Given the description of an element on the screen output the (x, y) to click on. 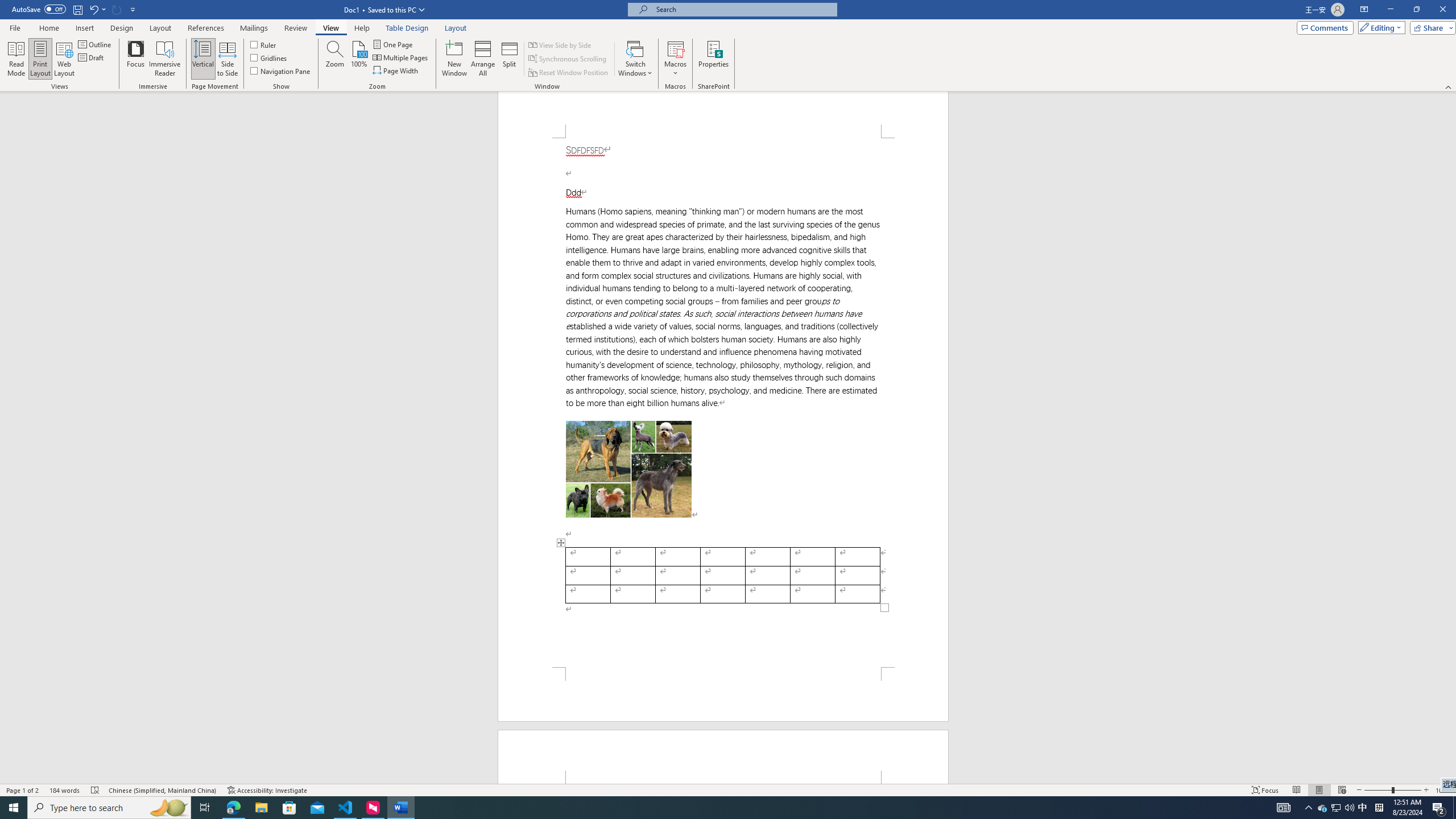
View Macros (675, 48)
Undo Apply Quick Style Set (96, 9)
Gridlines (269, 56)
Draft (91, 56)
Zoom... (334, 58)
Zoom 100% (1443, 790)
Accessibility Checker Accessibility: Investigate (266, 790)
Class: NetUIScrollBar (1450, 437)
